Given the description of an element on the screen output the (x, y) to click on. 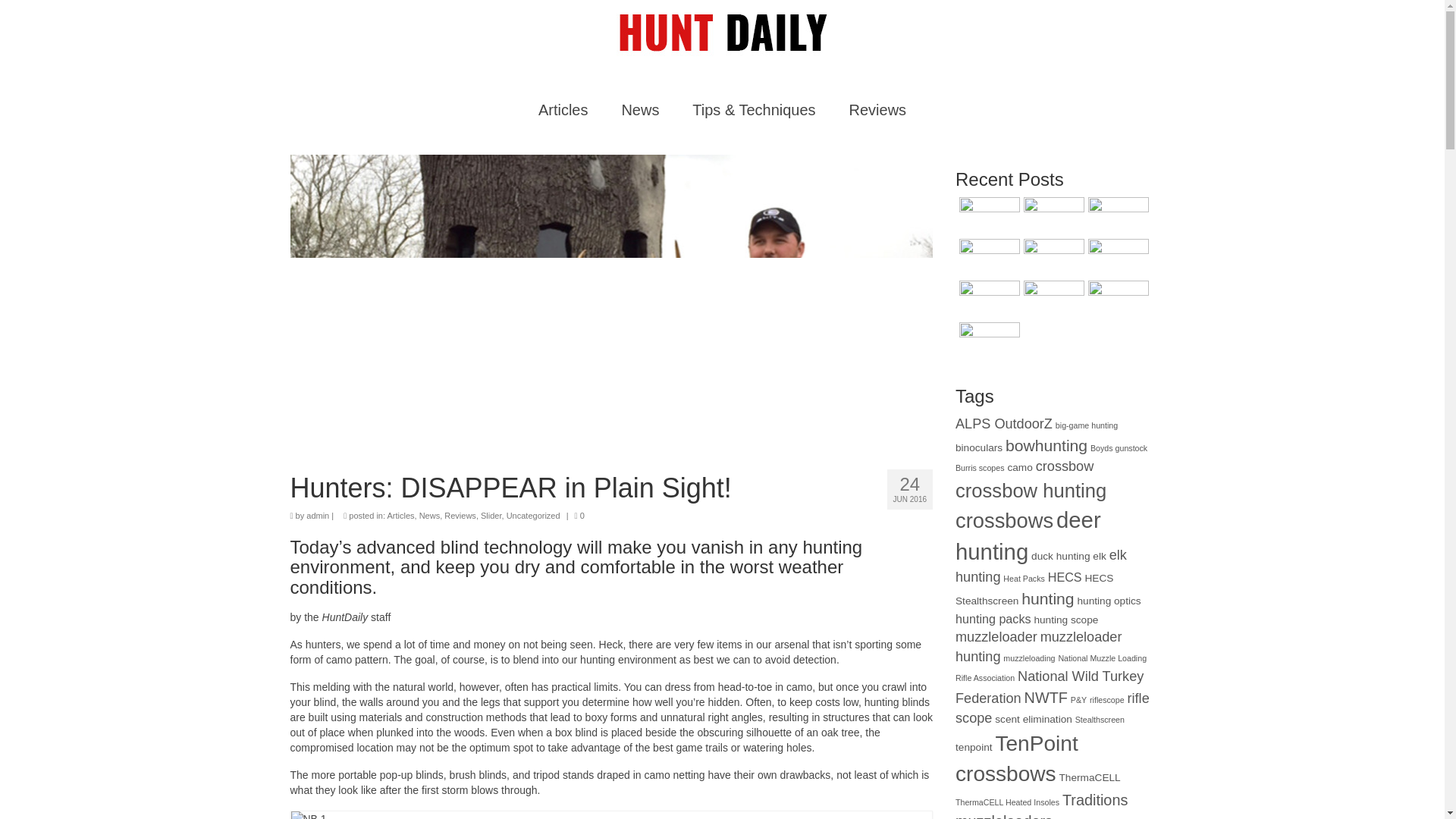
Three Hunting Products to Upgrade in Your Pack this Year (987, 216)
Slider (491, 515)
admin (317, 515)
How to Turn Your Phone Into the Ultimate Hunting GPS (1052, 299)
Reviews (877, 109)
Articles (400, 515)
Articles (563, 109)
STYRKA: Honesty In Optics (1052, 216)
5 Reasons to Choose a High-End Crossbow (987, 299)
